Given the description of an element on the screen output the (x, y) to click on. 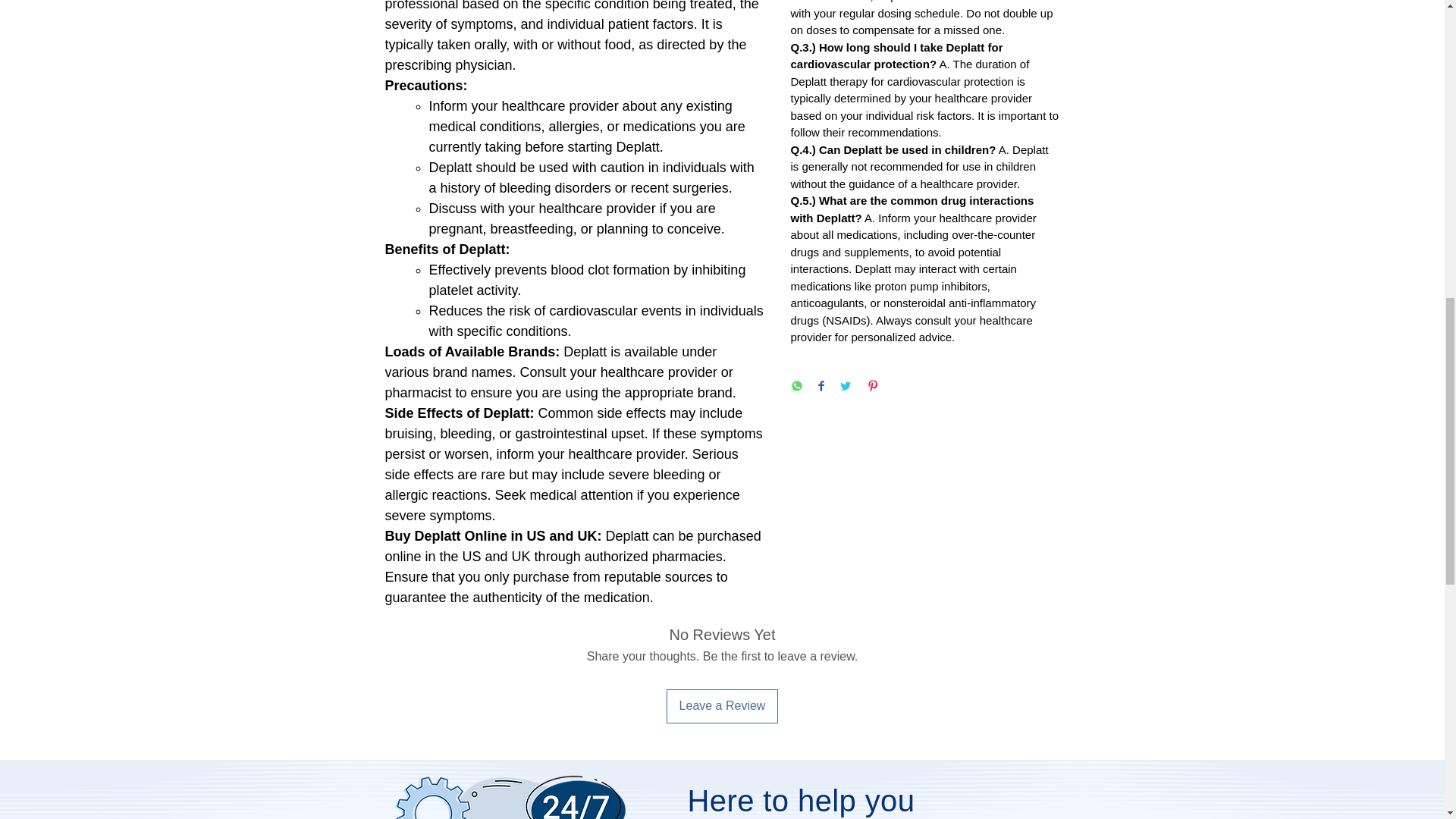
Leave a Review (722, 705)
